Given the description of an element on the screen output the (x, y) to click on. 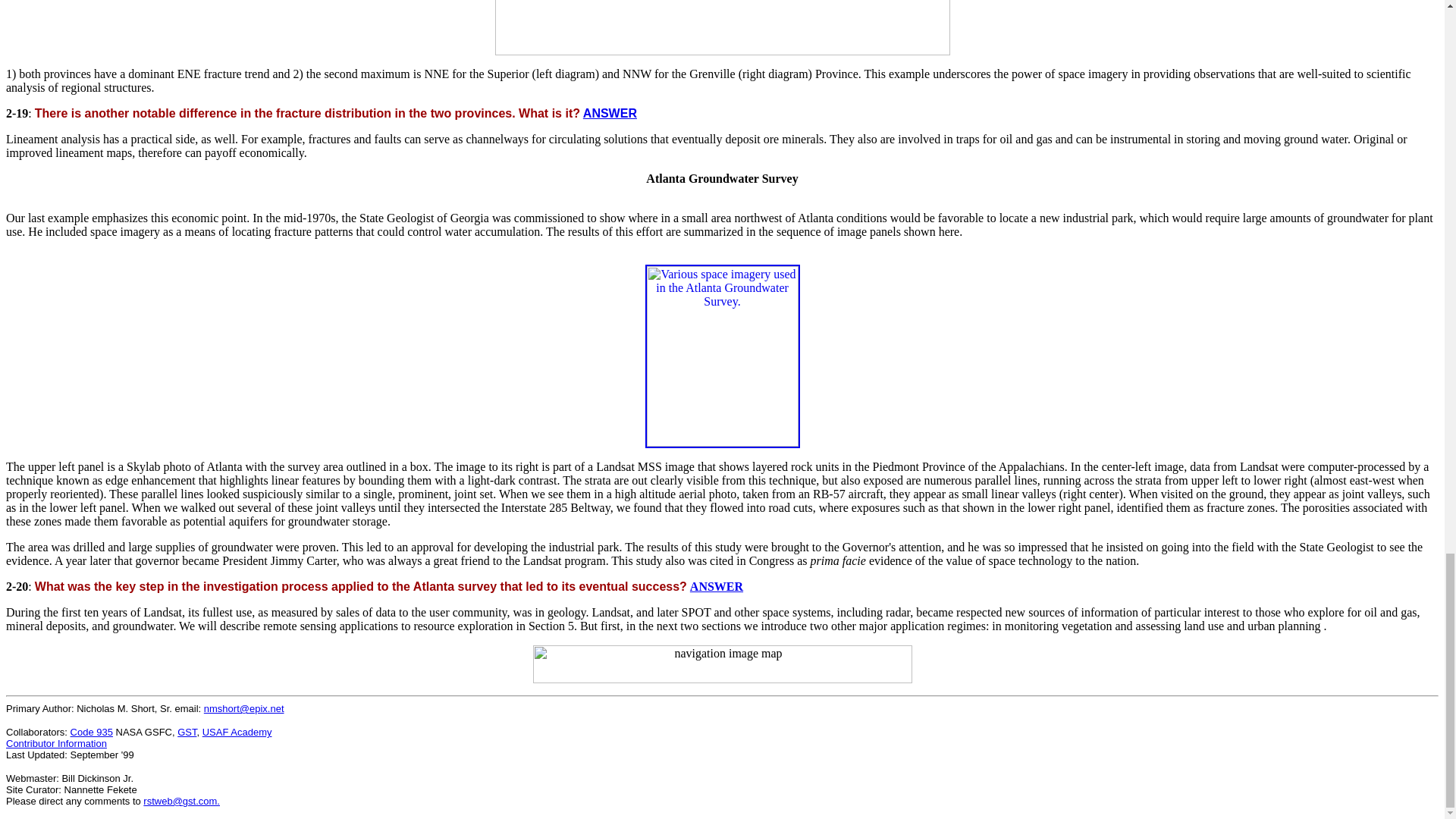
GST (186, 731)
ANSWER (716, 585)
Code 935 (91, 731)
Contributor Information (55, 743)
ANSWER (610, 113)
USAF Academy (237, 731)
